Given the description of an element on the screen output the (x, y) to click on. 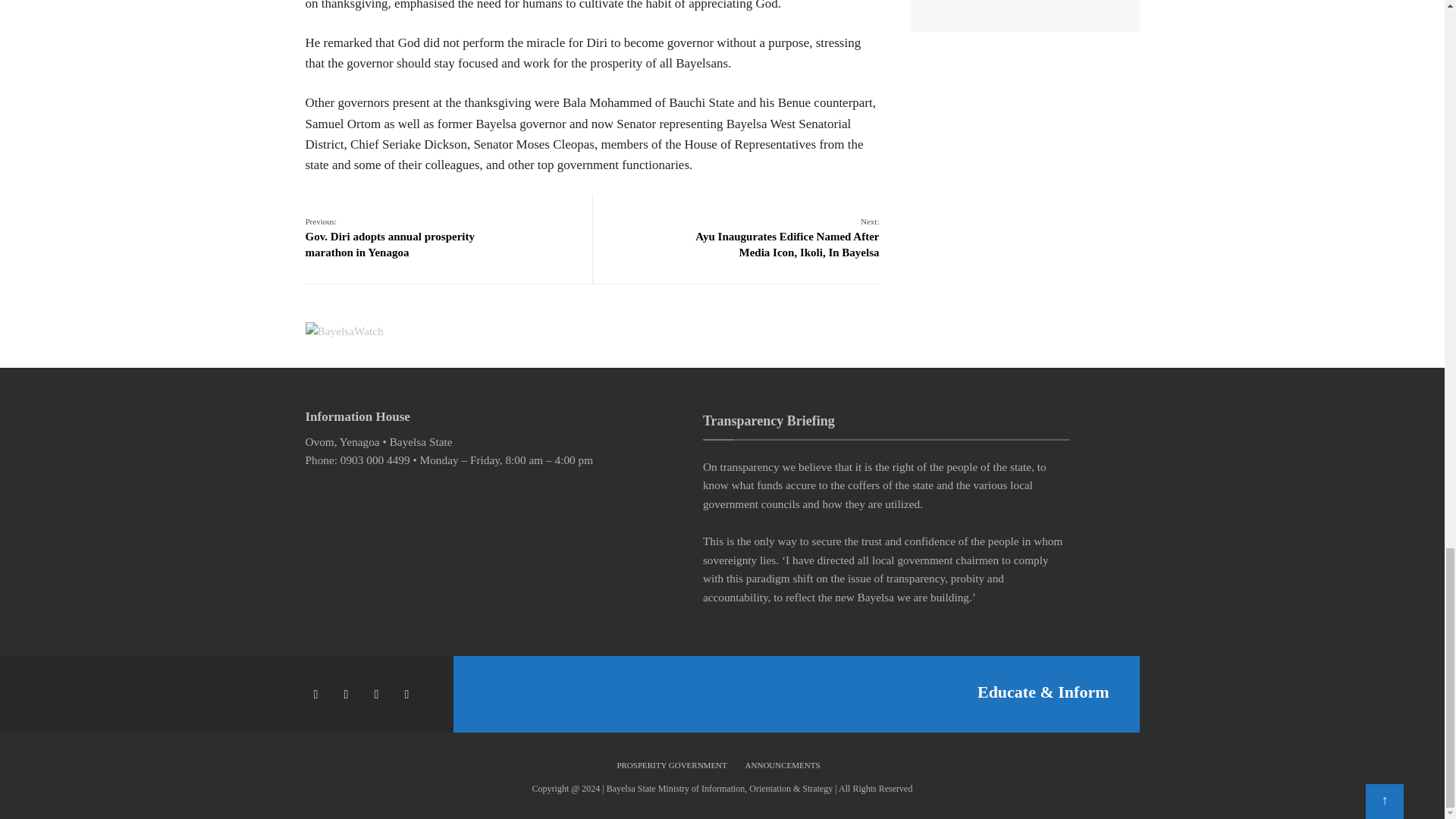
LinkedIn (409, 693)
